Given the description of an element on the screen output the (x, y) to click on. 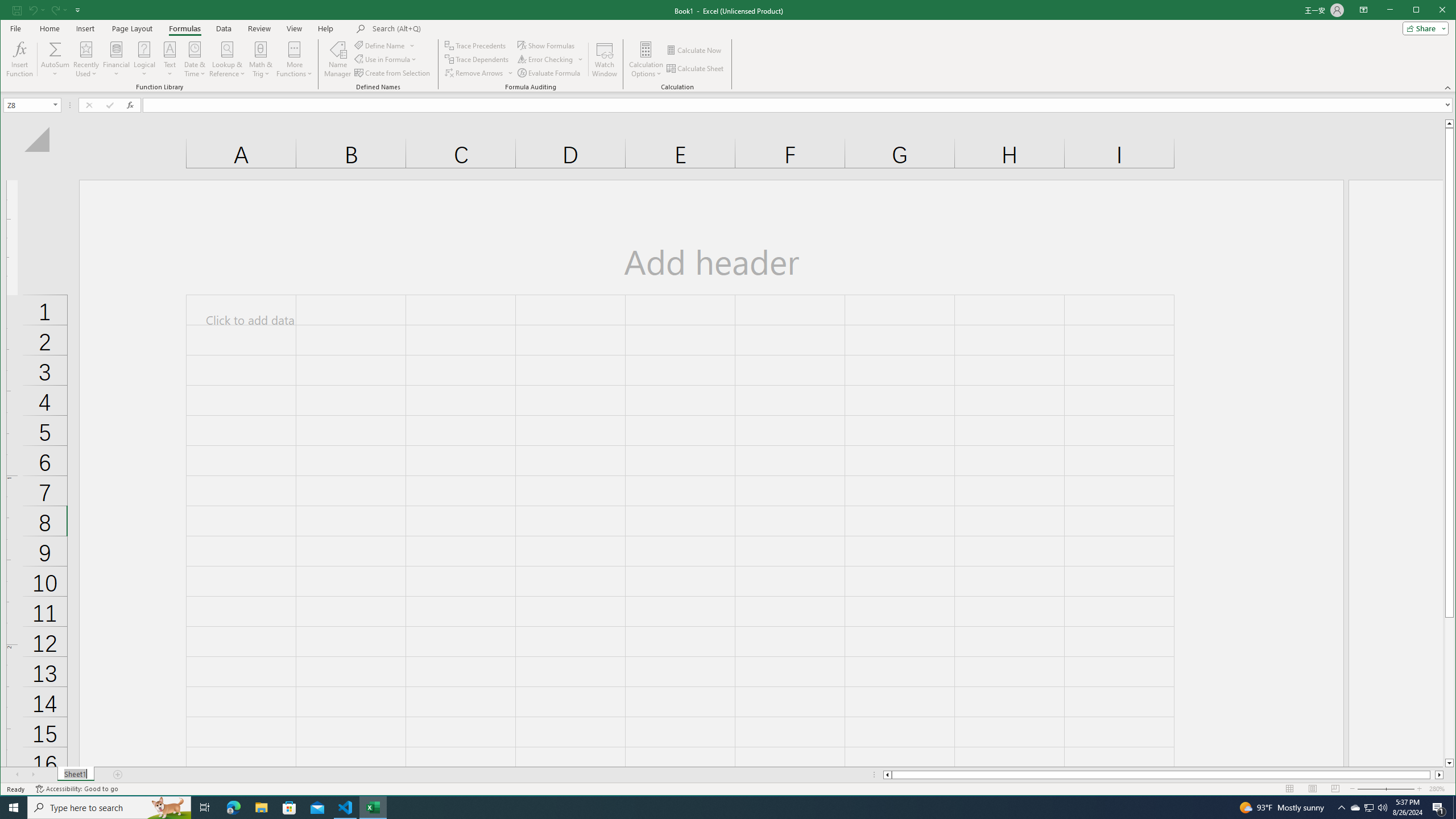
Calculation Options (646, 59)
Financial (116, 59)
Trace Precedents (475, 45)
Show desktop (1454, 807)
Running applications (717, 807)
Define Name... (379, 45)
